Given the description of an element on the screen output the (x, y) to click on. 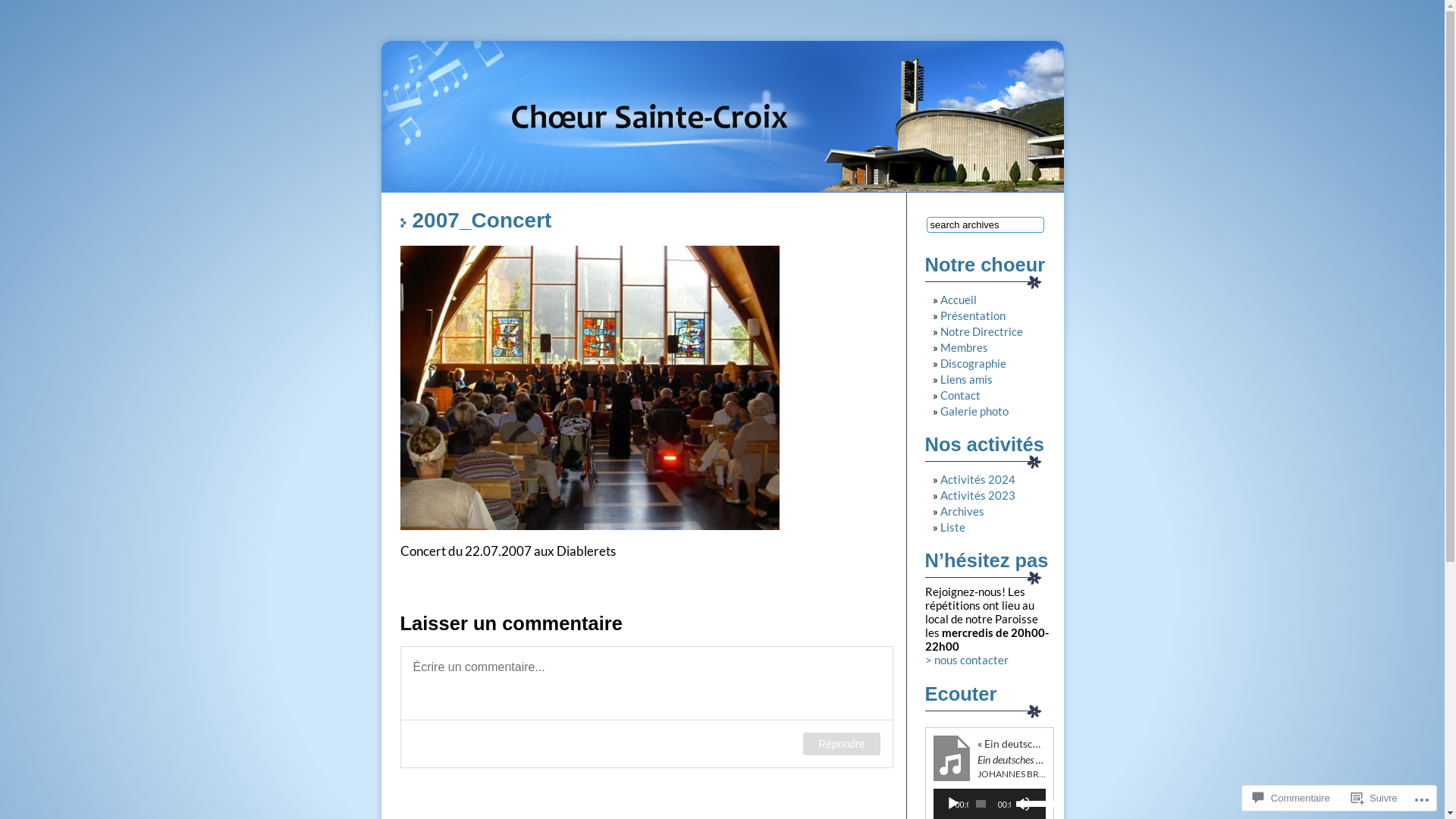
Suivre Element type: text (1374, 797)
Contact Element type: text (960, 394)
Liens amis Element type: text (966, 378)
Galerie photo Element type: text (974, 410)
Liste Element type: text (952, 526)
Commentaire Element type: text (1291, 797)
> nous contacter Element type: text (966, 659)
Discographie Element type: text (973, 363)
Membres Element type: text (964, 347)
Lecture Element type: hover (952, 803)
Accueil Element type: text (958, 299)
Muet Element type: hover (1022, 803)
Notre Directrice Element type: text (981, 331)
Archives Element type: text (962, 510)
